Given the description of an element on the screen output the (x, y) to click on. 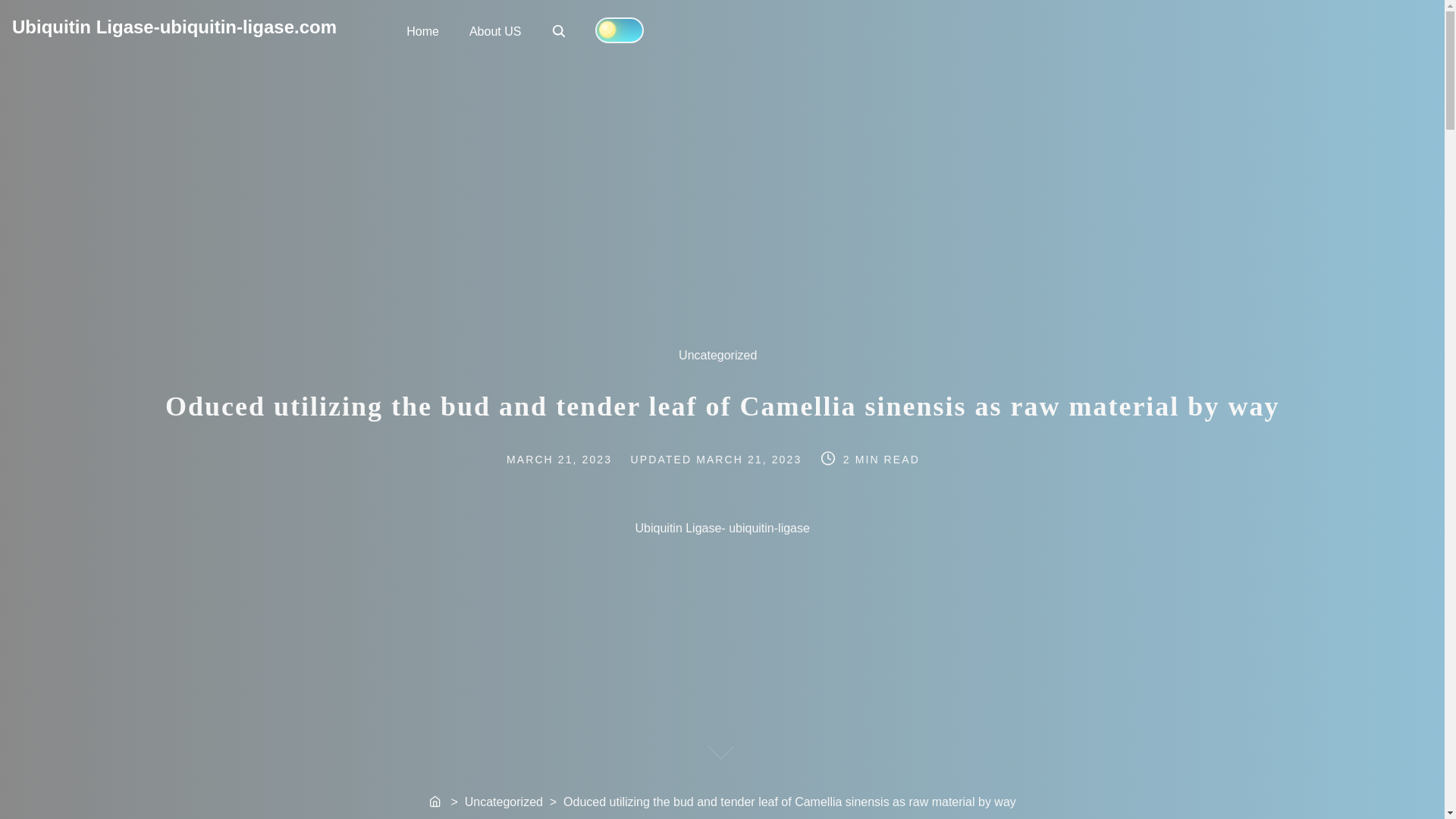
Search (558, 30)
About US (494, 30)
Home (422, 30)
Uncategorized (724, 361)
MARCH 21, 2023 (571, 459)
Ubiquitin Ligase-ubiquitin-ligase.com (173, 26)
MARCH 21, 2023 (750, 459)
Home (436, 802)
